Given the description of an element on the screen output the (x, y) to click on. 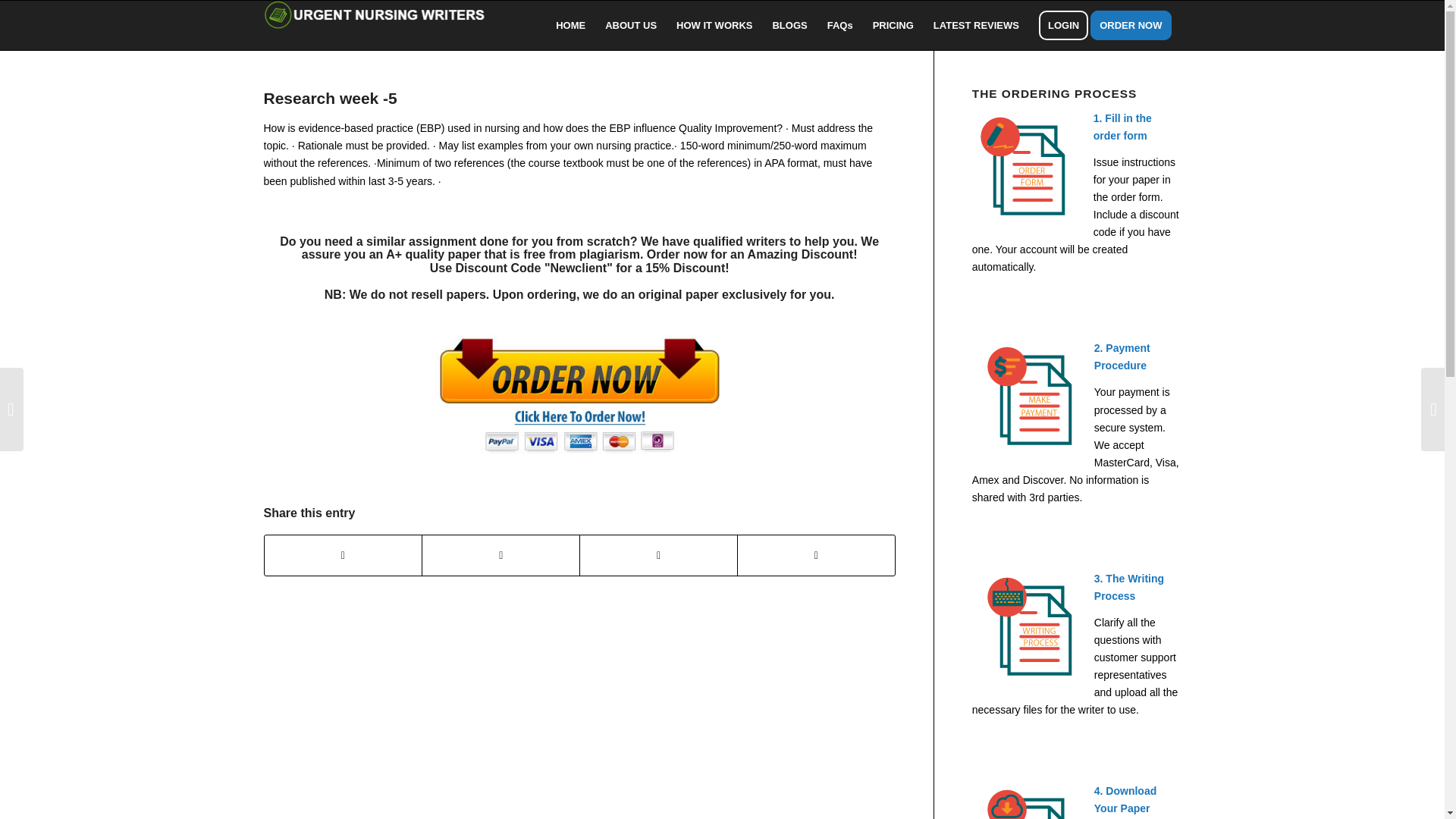
HOW IT WORKS (713, 24)
LOGIN (1063, 24)
LATEST REVIEWS (976, 24)
Permanent Link: Research week -5 (330, 98)
ABOUT US (630, 24)
HOME (570, 24)
BLOGS (788, 24)
FAQs (839, 24)
Research week -5 (330, 98)
ORDER NOW (1135, 24)
PRICING (893, 24)
